Given the description of an element on the screen output the (x, y) to click on. 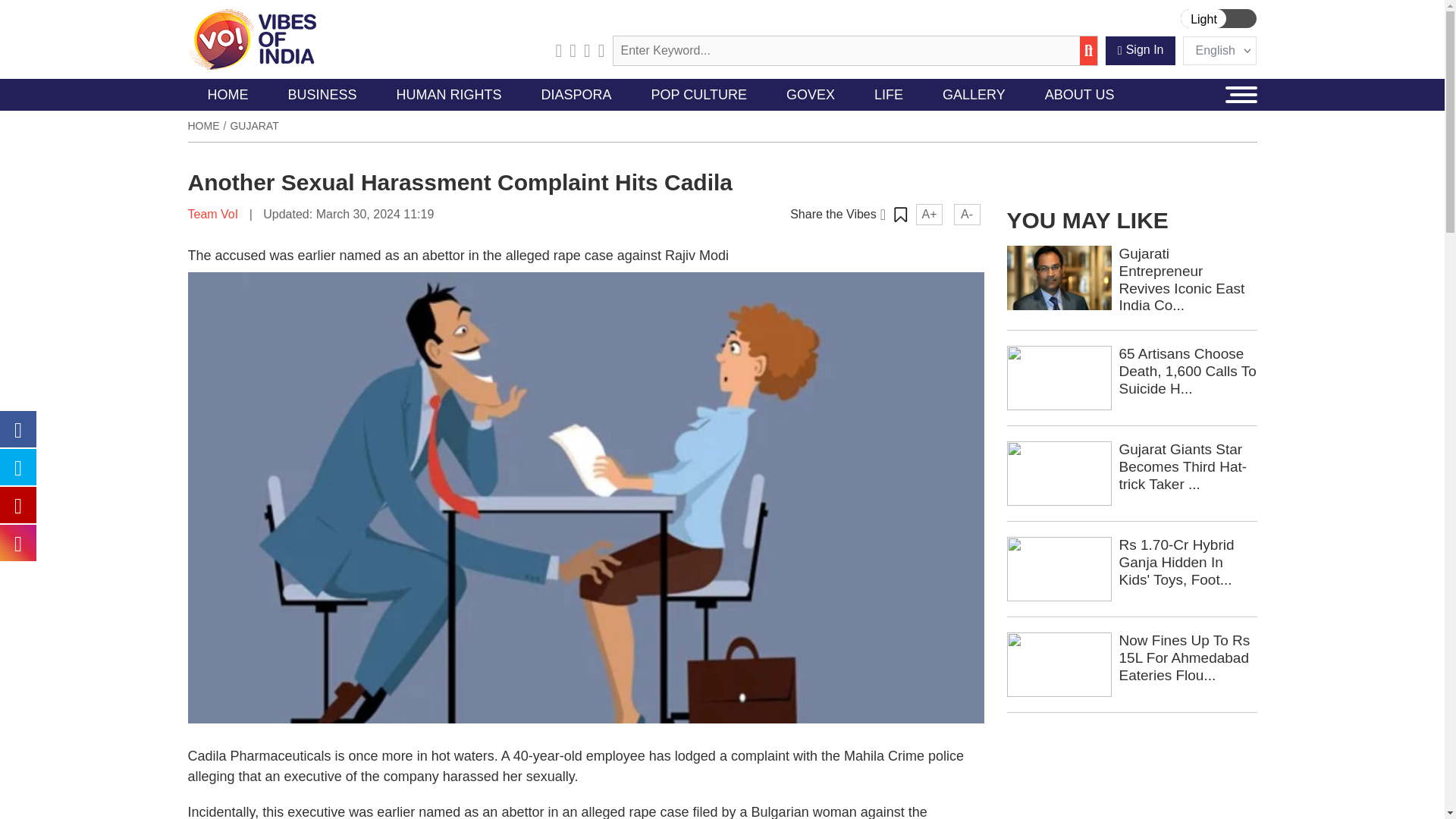
HUMAN RIGHTS (449, 94)
POP CULTURE (699, 94)
GALLERY (974, 94)
BUSINESS (322, 94)
HOME (227, 94)
Home (203, 125)
GOVEX (810, 94)
DIASPORA (576, 94)
